Given the description of an element on the screen output the (x, y) to click on. 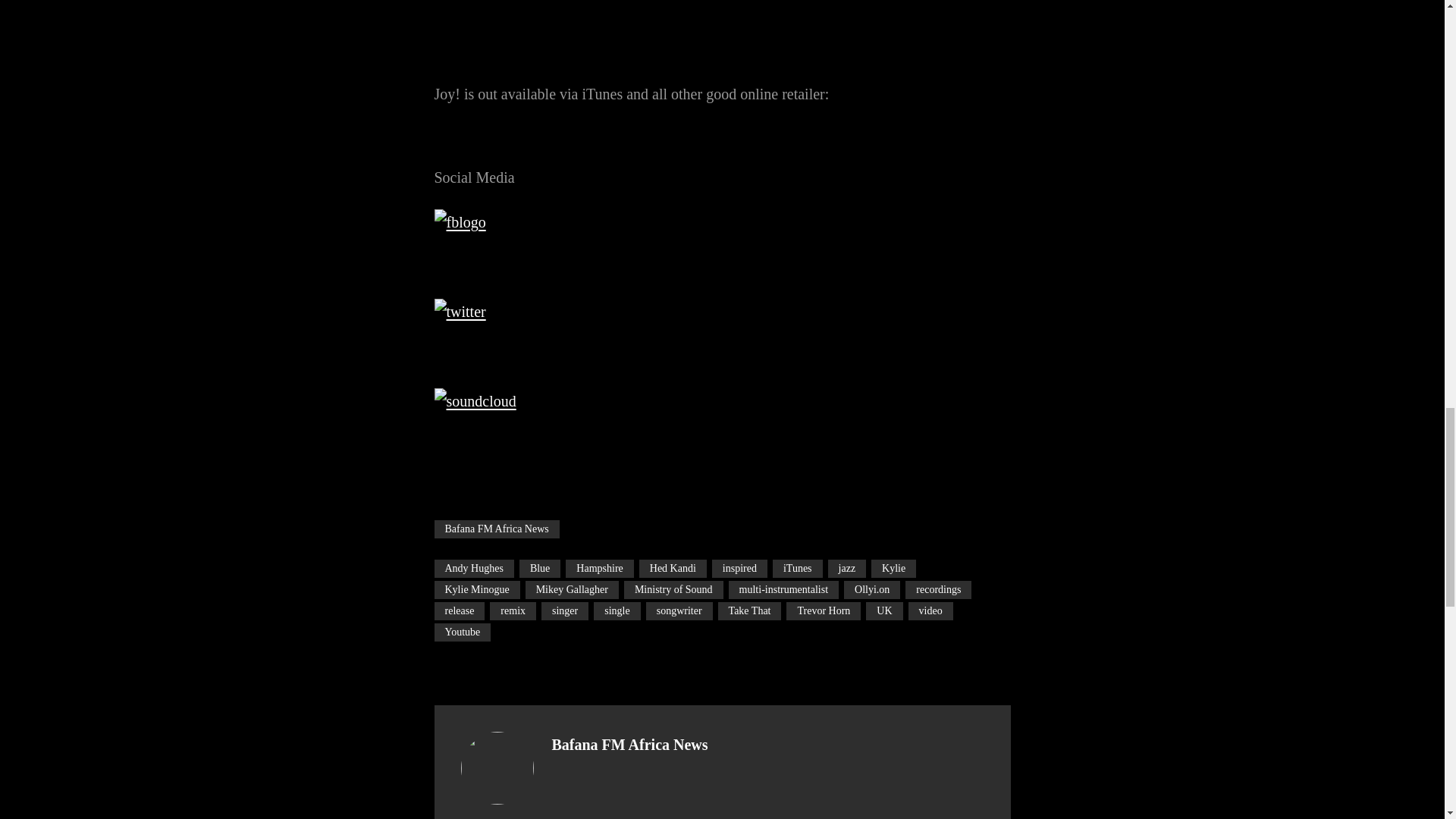
multi-instrumentalist (783, 589)
singer (564, 610)
Bafana FM Africa News (496, 529)
Ollyi.on (871, 589)
Mikey Gallagher (571, 589)
remix (512, 610)
Trevor Horn (823, 610)
Kylie (892, 568)
Blue (539, 568)
Andy Hughes (473, 568)
Hampshire (599, 568)
Ministry of Sound (673, 589)
Kylie Minogue (476, 589)
Hed Kandi (672, 568)
jazz (847, 568)
